Given the description of an element on the screen output the (x, y) to click on. 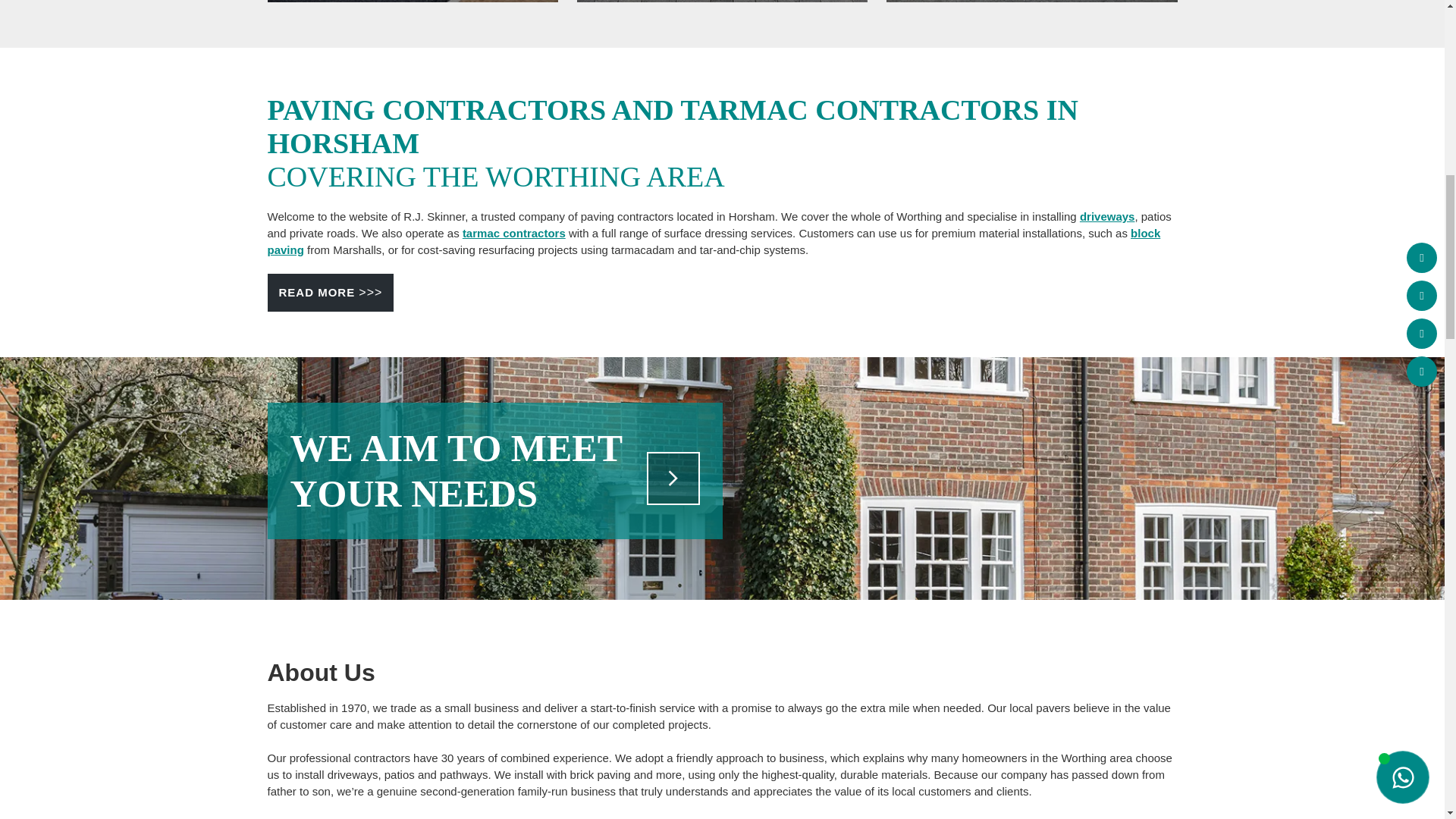
block paving (713, 241)
driveways (1107, 215)
tarmac contractors (514, 232)
